Given the description of an element on the screen output the (x, y) to click on. 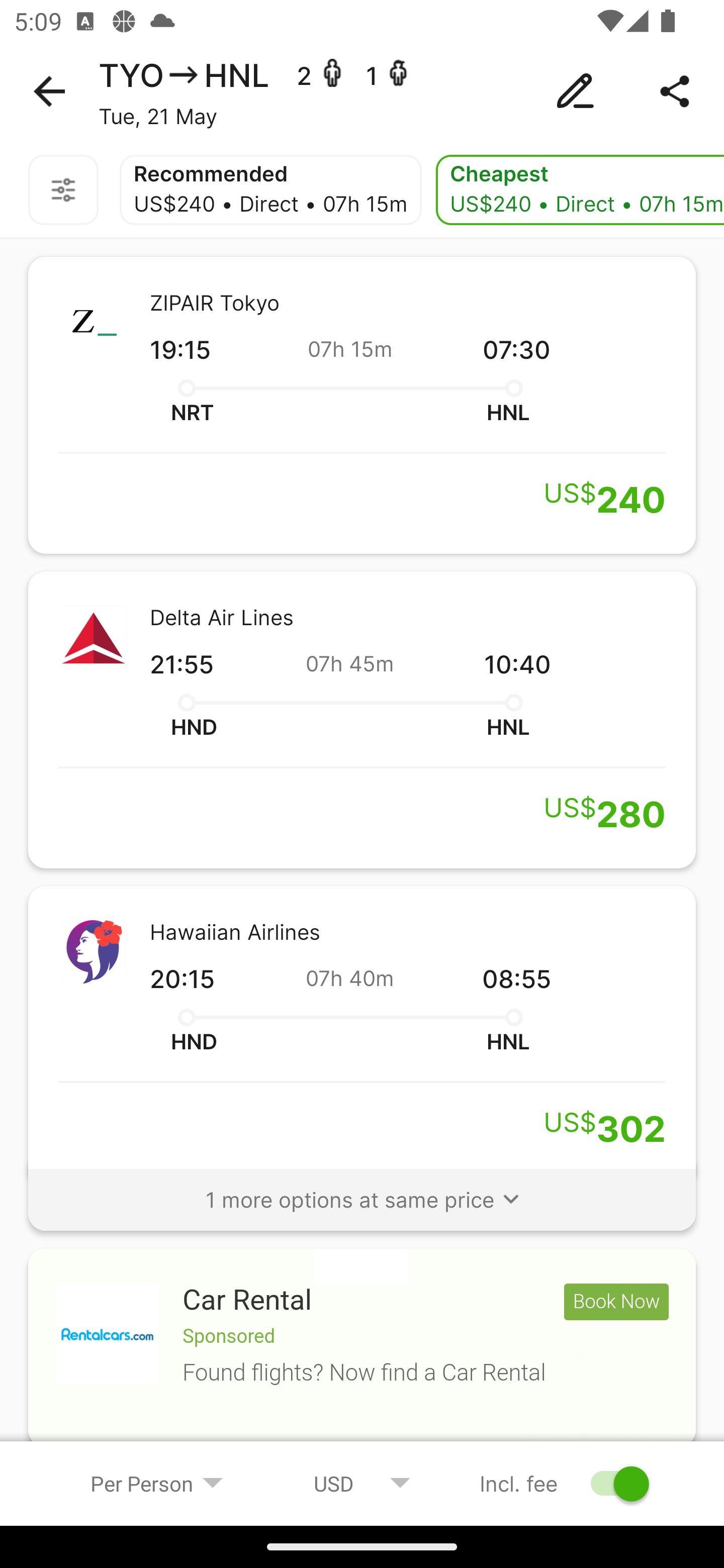
TYO HNL   2 -   1 - Tue, 21 May (361, 91)
Recommended  US$240 • Direct • 07h 15m (270, 190)
Cheapest US$240 • Direct • 07h 15m (579, 190)
ZIPAIR Tokyo 19:15 07h 15m 07:30 NRT HNL (361, 405)
Delta Air Lines 21:55 07h 45m 10:40 HND HNL (361, 719)
Hawaiian Airlines 20:15 07h 40m 08:55 HND HNL (361, 1033)
1 more options at same price (361, 1190)
Per Person (156, 1482)
USD (361, 1482)
